Given the description of an element on the screen output the (x, y) to click on. 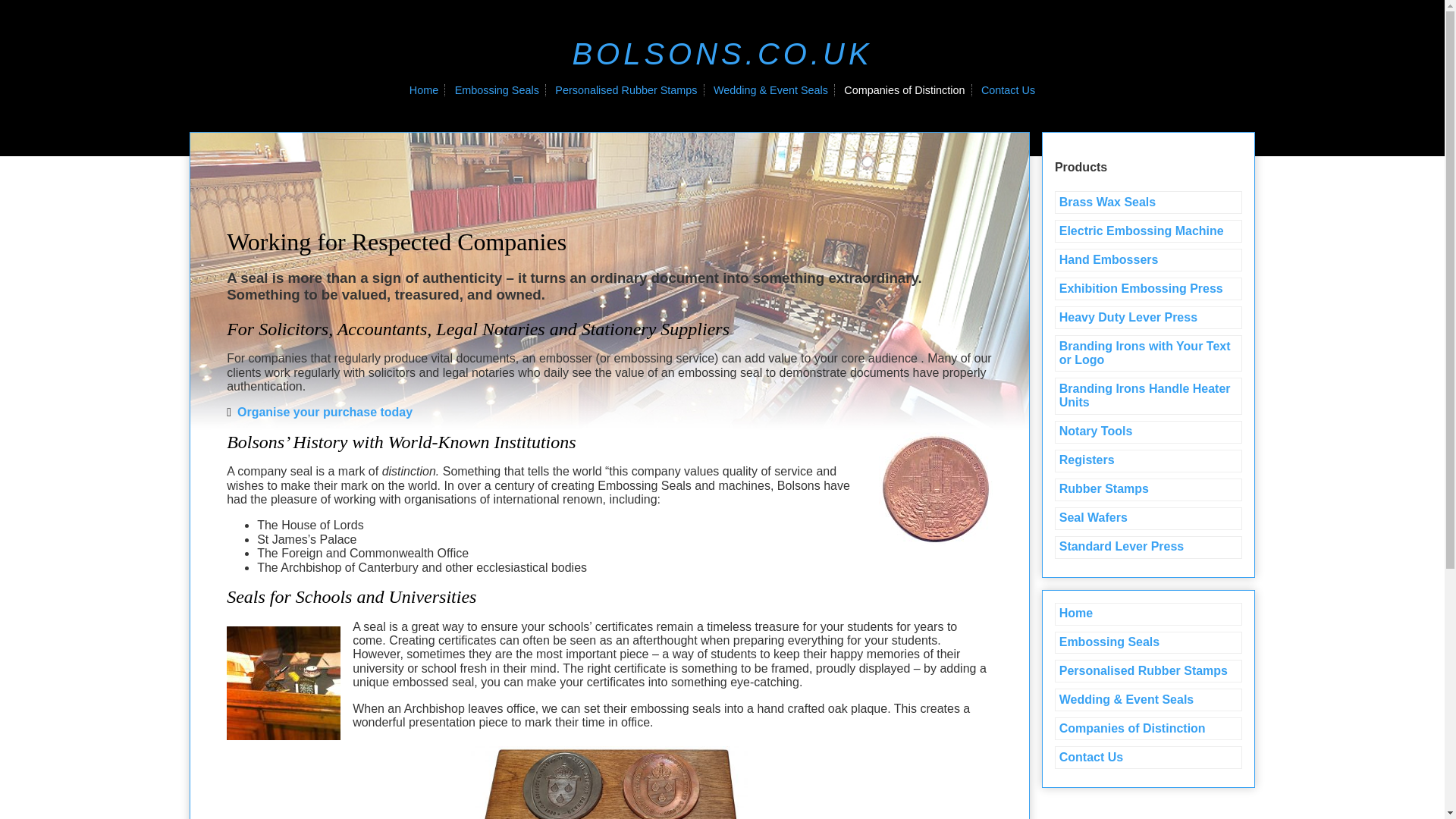
Registers (1147, 460)
Contact Us (1008, 90)
Personalised Rubber Stamps (625, 90)
Contact Us (1147, 757)
Embossing Seals (1147, 641)
Hand Embossers (1147, 259)
Brass Wax Seals (1147, 201)
Seal Wafers (1147, 517)
Branding Irons with Your Text or Logo (1147, 352)
Branding Irons Handle Heater Units (1147, 395)
